Given the description of an element on the screen output the (x, y) to click on. 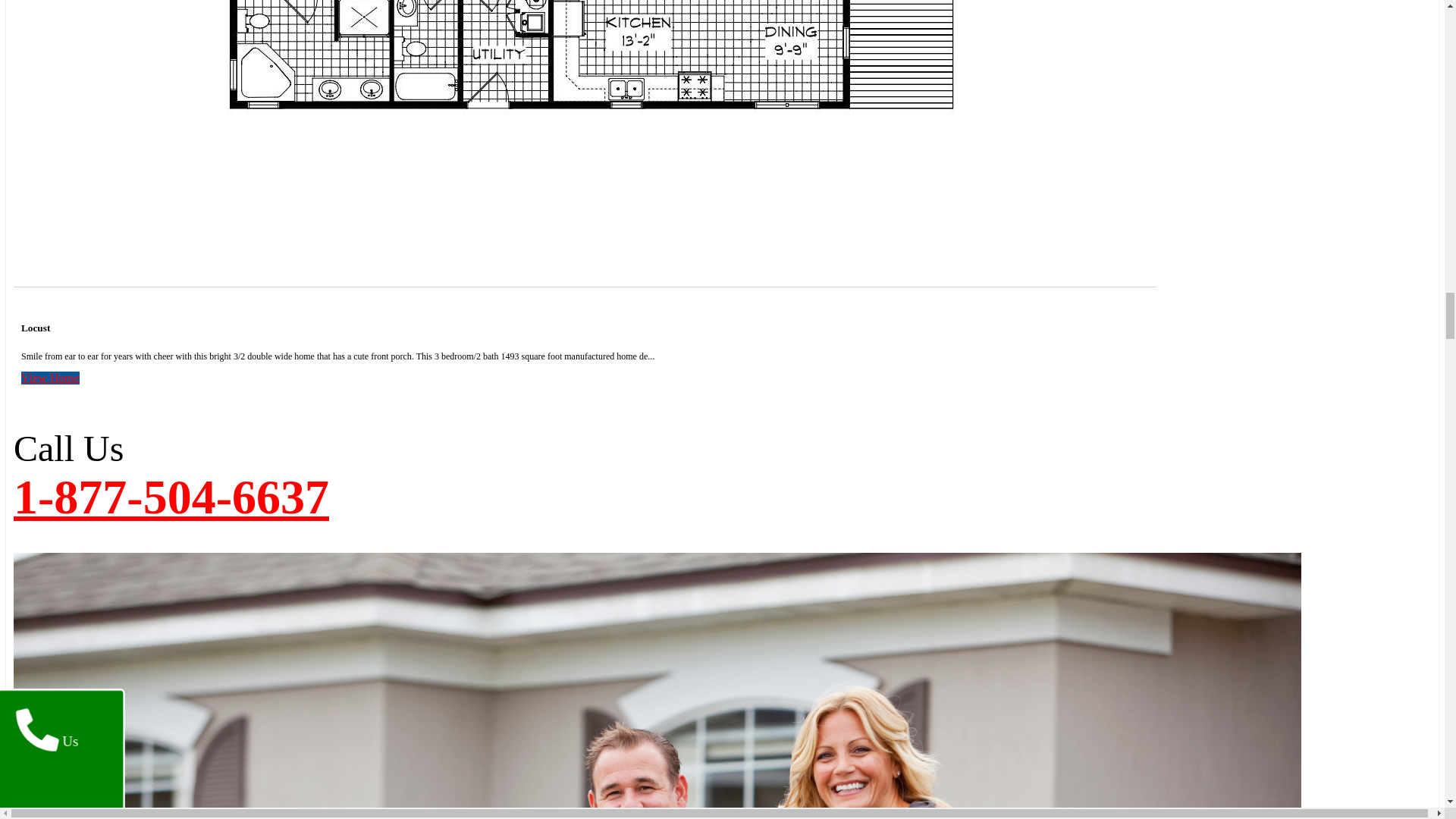
View Home (50, 377)
1-877-504-6637 (171, 497)
